Given the description of an element on the screen output the (x, y) to click on. 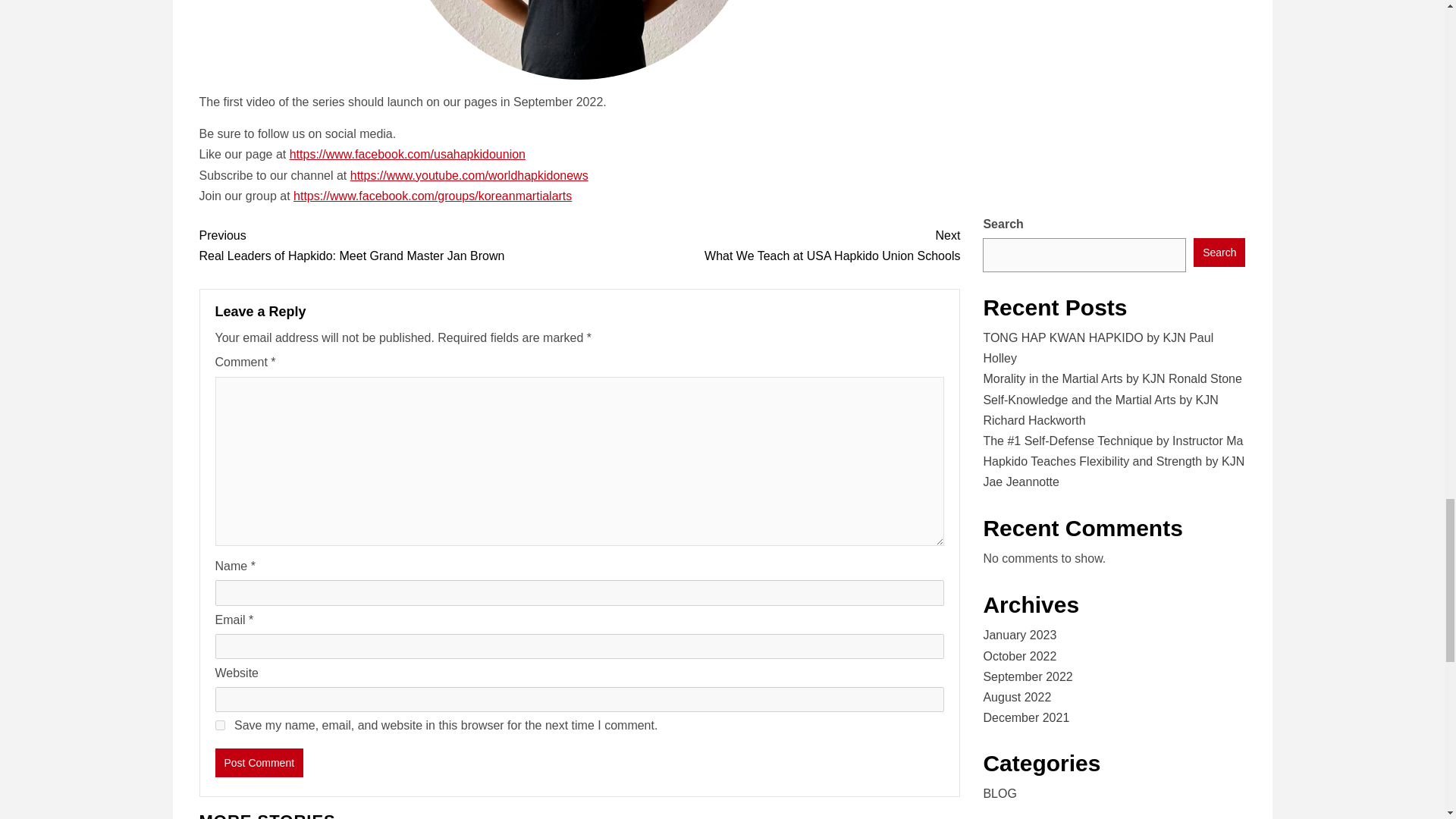
Post Comment (259, 762)
yes (220, 725)
Post Comment (769, 245)
